Given the description of an element on the screen output the (x, y) to click on. 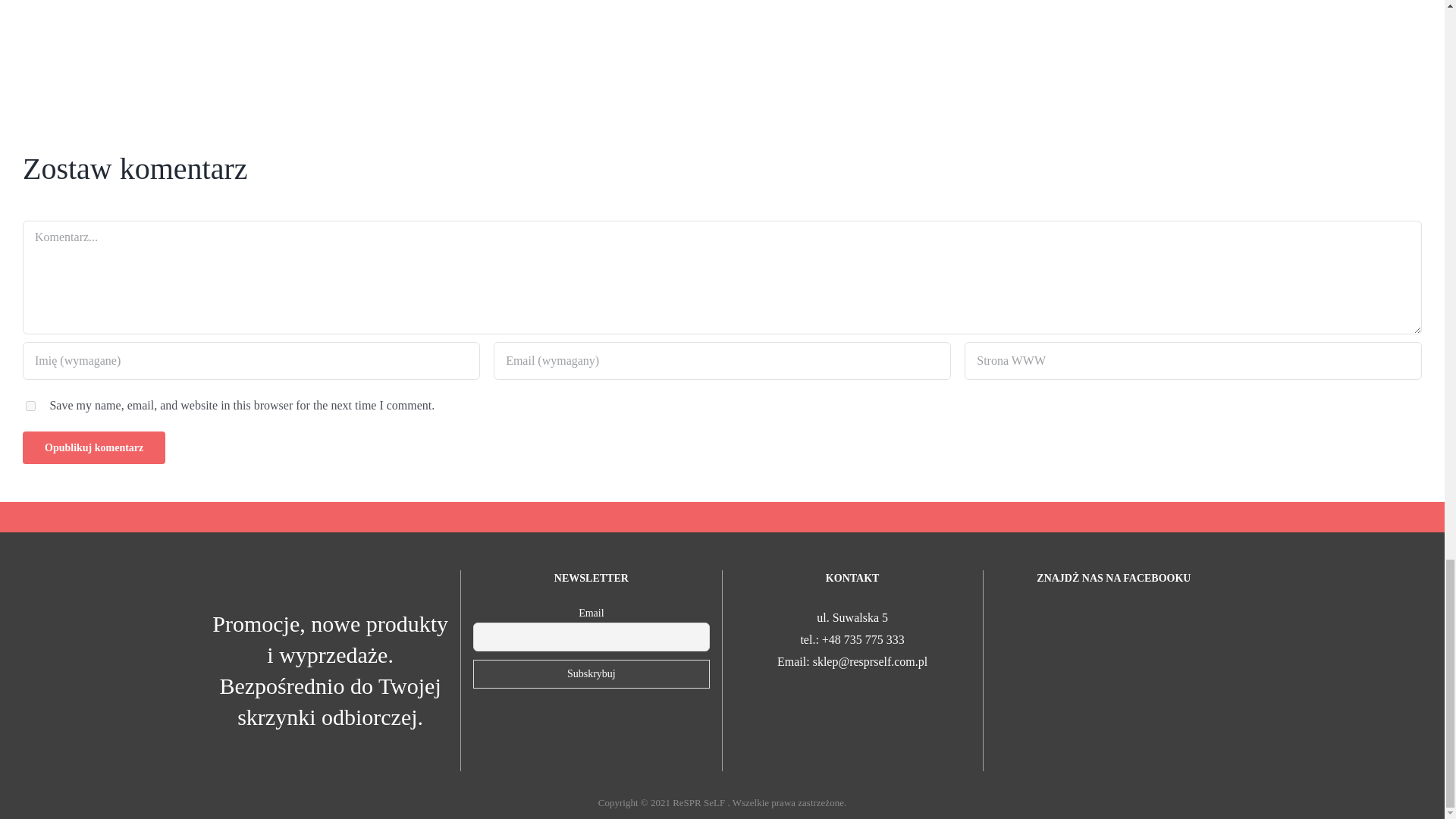
yes (30, 406)
Opublikuj komentarz (94, 447)
Subskrybuj (591, 674)
